Given the description of an element on the screen output the (x, y) to click on. 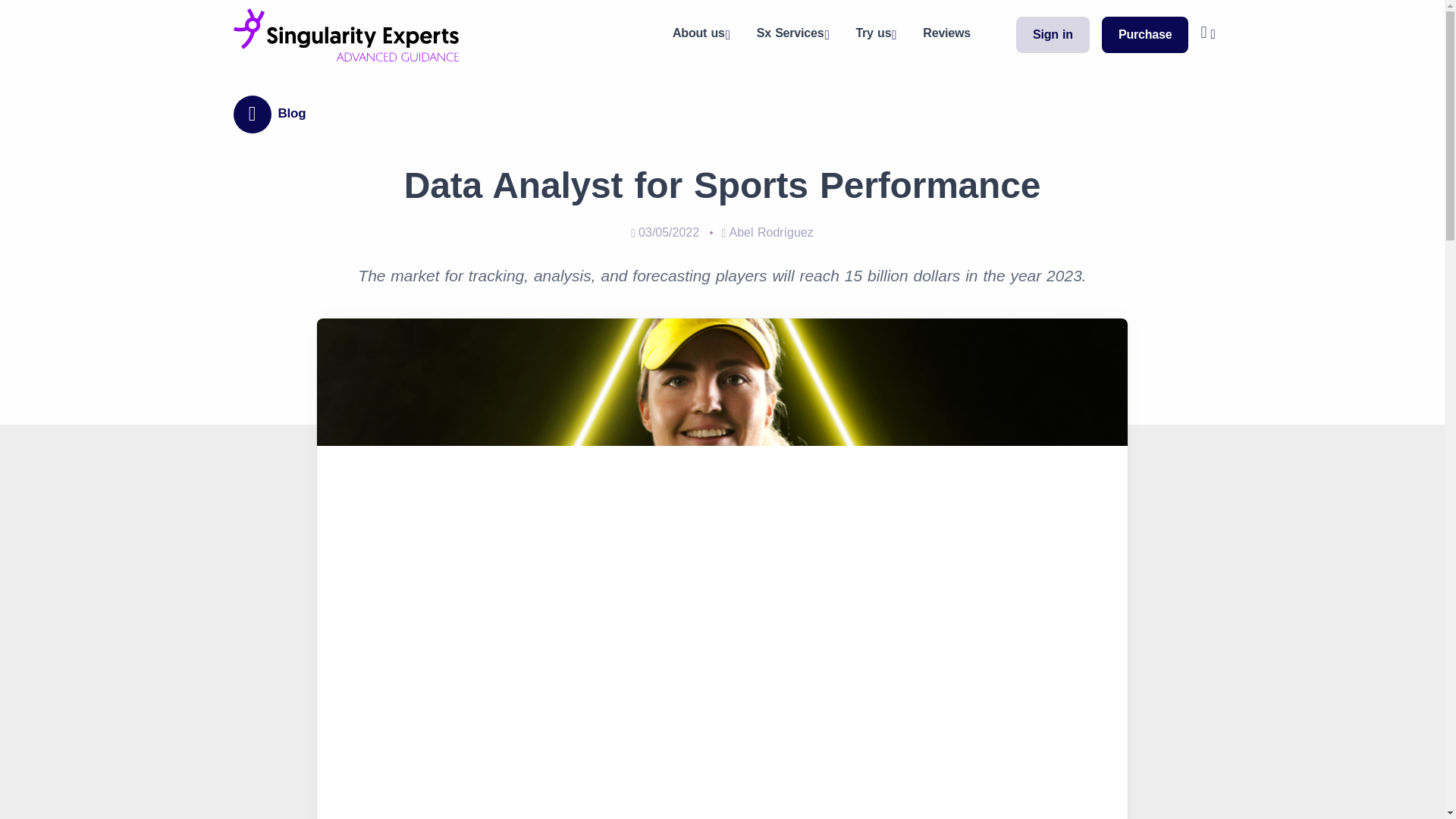
About us (699, 34)
Sx Services (791, 34)
Blog (278, 114)
Reviews (946, 32)
Sign in (1052, 34)
Try us (873, 34)
Purchase (1145, 34)
